Given the description of an element on the screen output the (x, y) to click on. 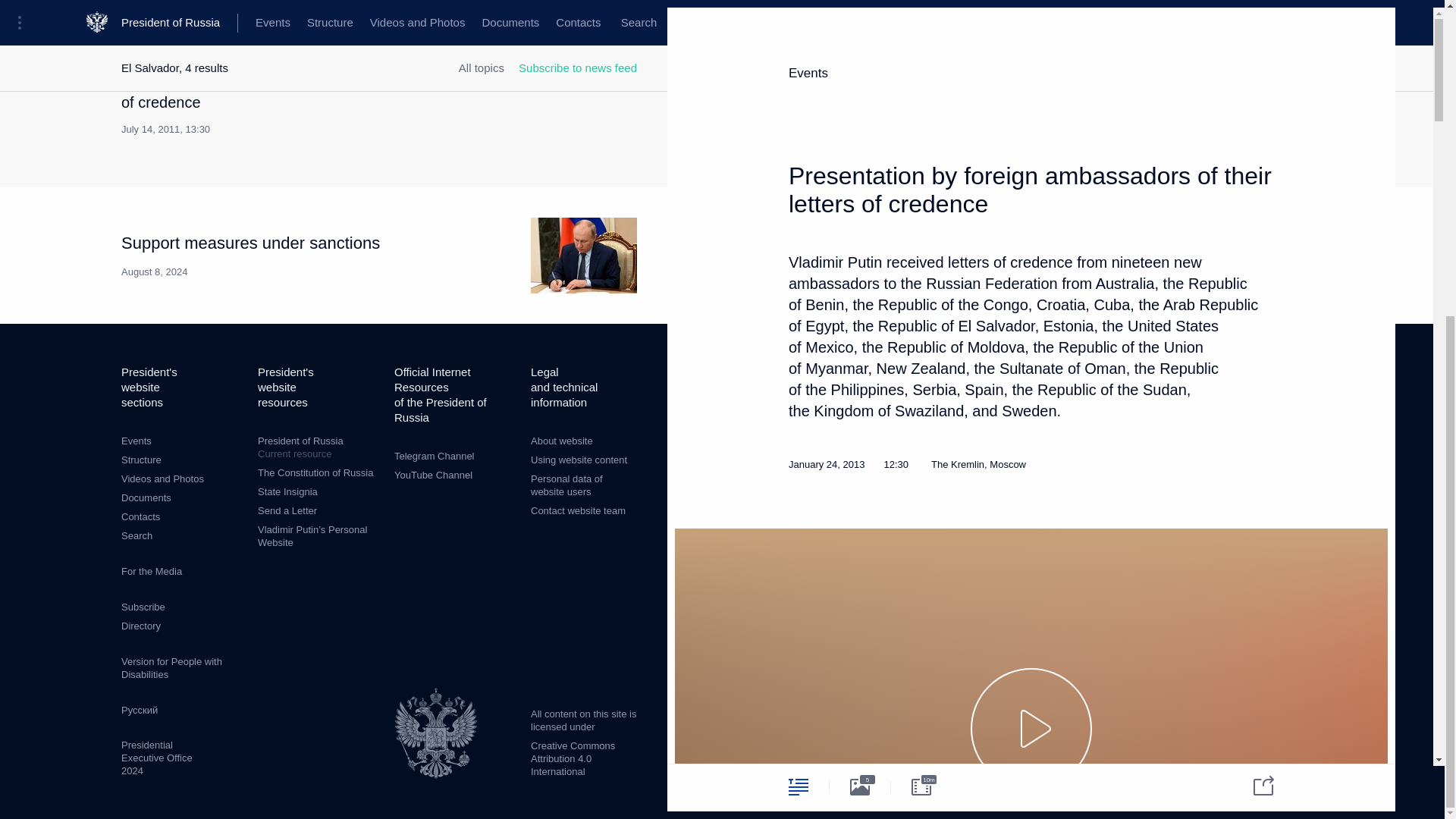
Events (135, 440)
Version for People with Disabilities (171, 668)
Subscribe (142, 606)
Contacts (140, 516)
Documents (145, 497)
Photo (317, 447)
State Insignia (859, 277)
Directory (287, 491)
